Given the description of an element on the screen output the (x, y) to click on. 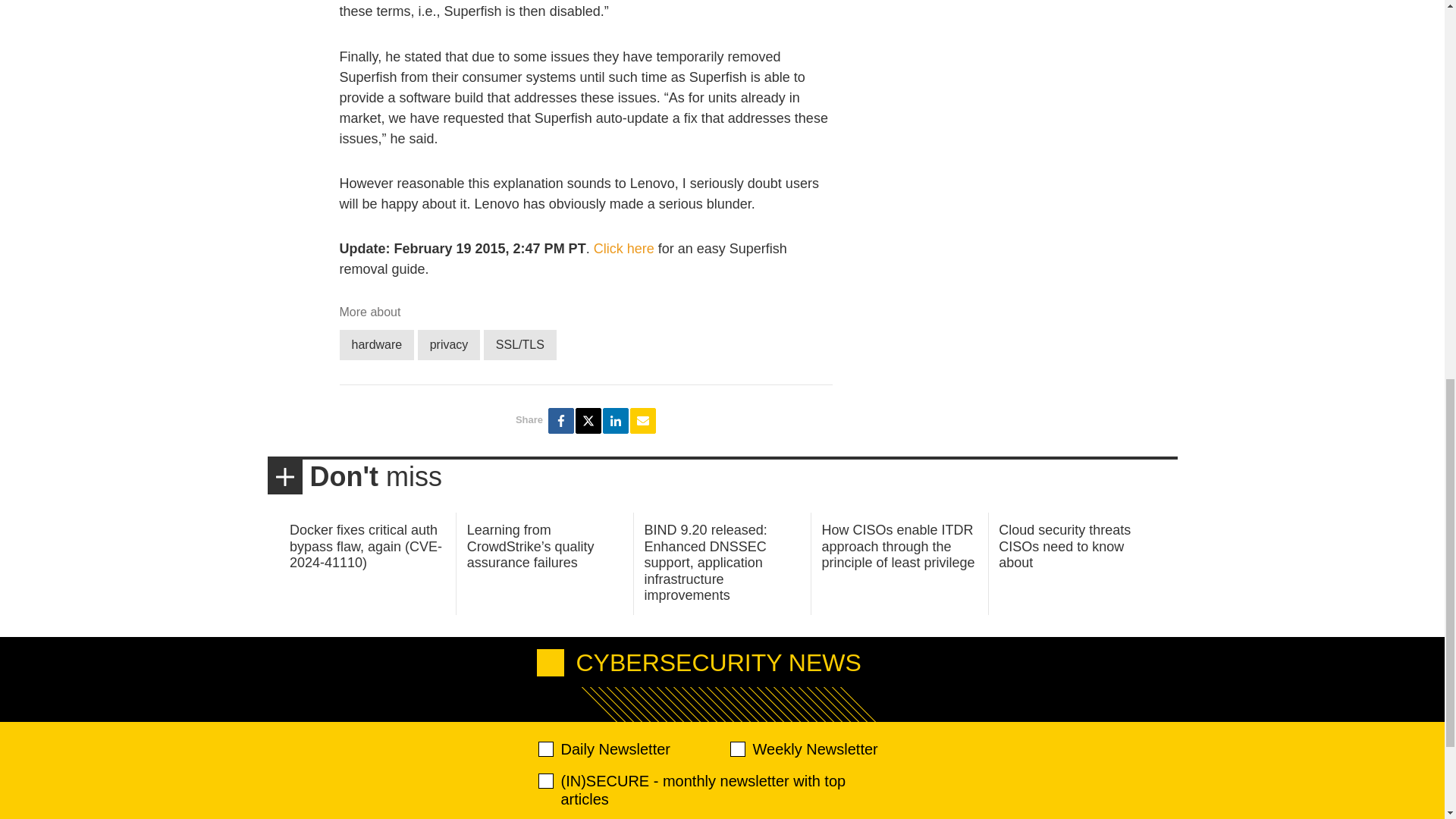
privacy (448, 344)
520ac2f639 (545, 749)
28abe5d9ef (545, 780)
Click here (623, 248)
hardware (376, 344)
d2d471aafa (736, 749)
privacy (448, 344)
hardware (376, 344)
